Given the description of an element on the screen output the (x, y) to click on. 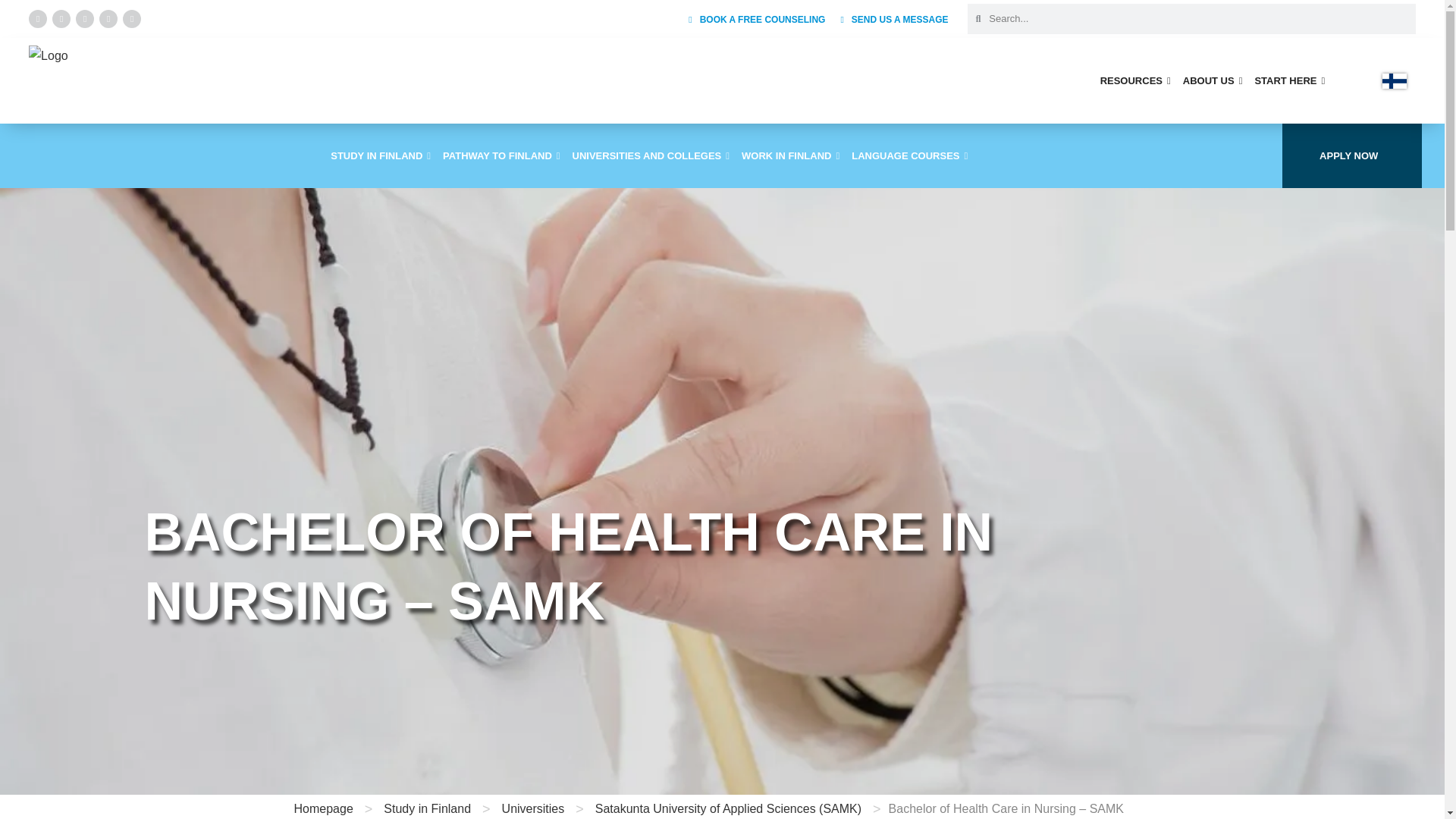
BOOK A FREE COUNSELING (756, 19)
Homepage (322, 808)
Universities (533, 808)
SEND US A MESSAGE (893, 19)
Study in Finland (427, 808)
